Given the description of an element on the screen output the (x, y) to click on. 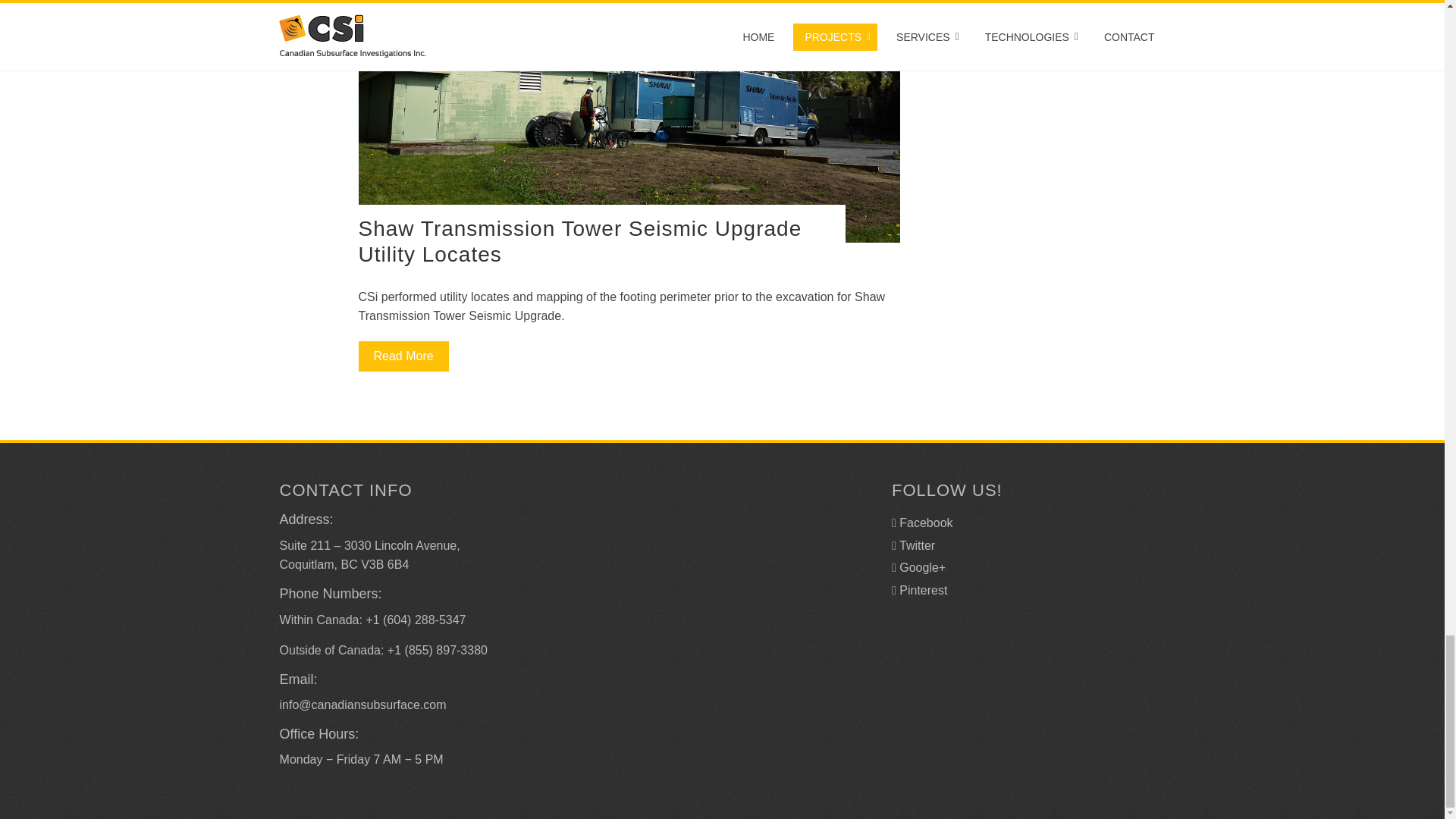
Shaw Transmission Tower Seismic Upgrade Utility Locates (580, 241)
Read More (403, 356)
